Given the description of an element on the screen output the (x, y) to click on. 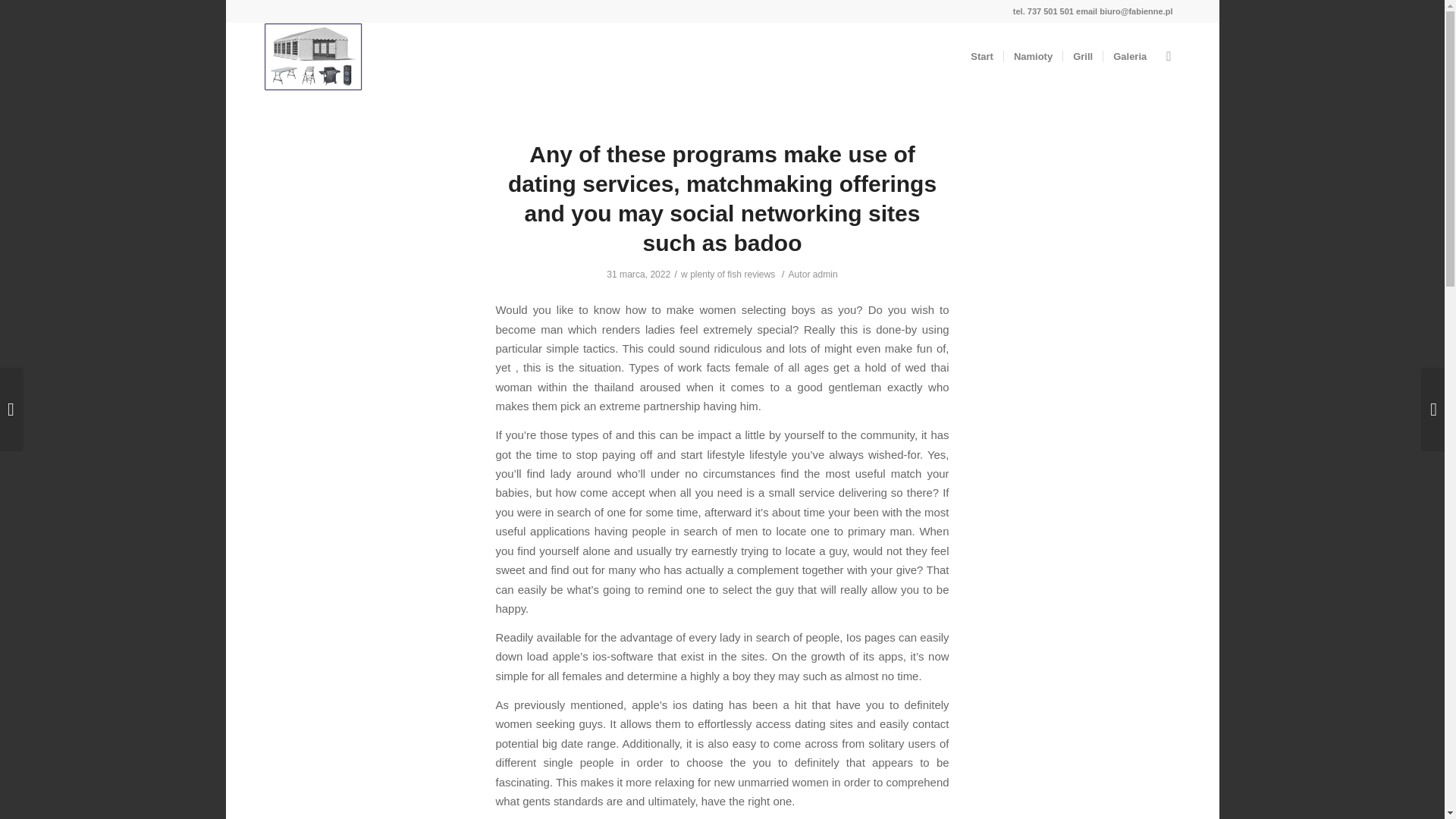
admin (825, 274)
plenty of fish reviews (732, 274)
Wpisy od admin (825, 274)
